Given the description of an element on the screen output the (x, y) to click on. 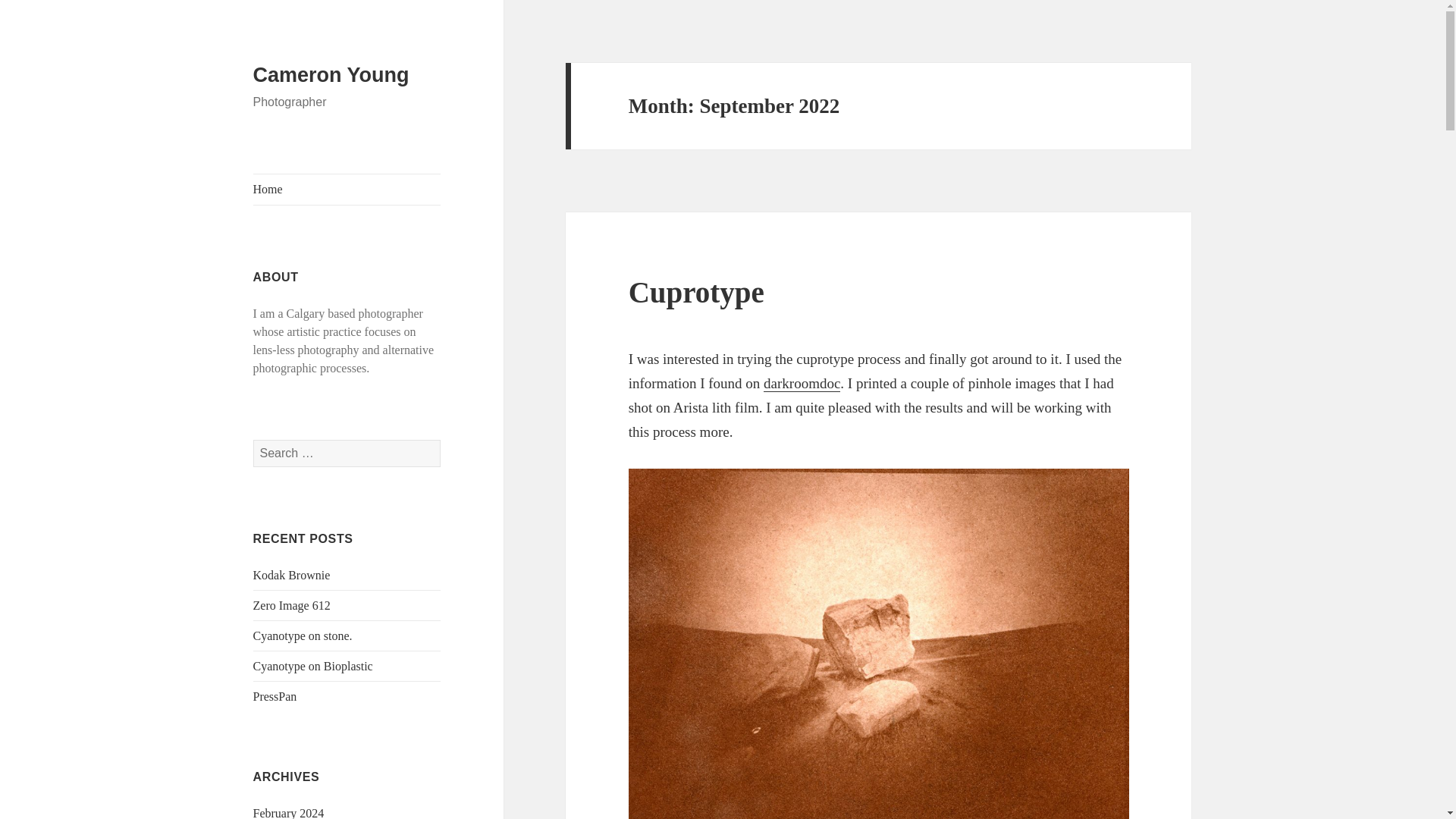
Cyanotype on stone. (302, 635)
Cameron Young (331, 74)
PressPan (275, 696)
Kodak Brownie (291, 574)
February 2024 (288, 812)
Zero Image 612 (291, 604)
Cyanotype on Bioplastic (312, 666)
Home (347, 189)
